Given the description of an element on the screen output the (x, y) to click on. 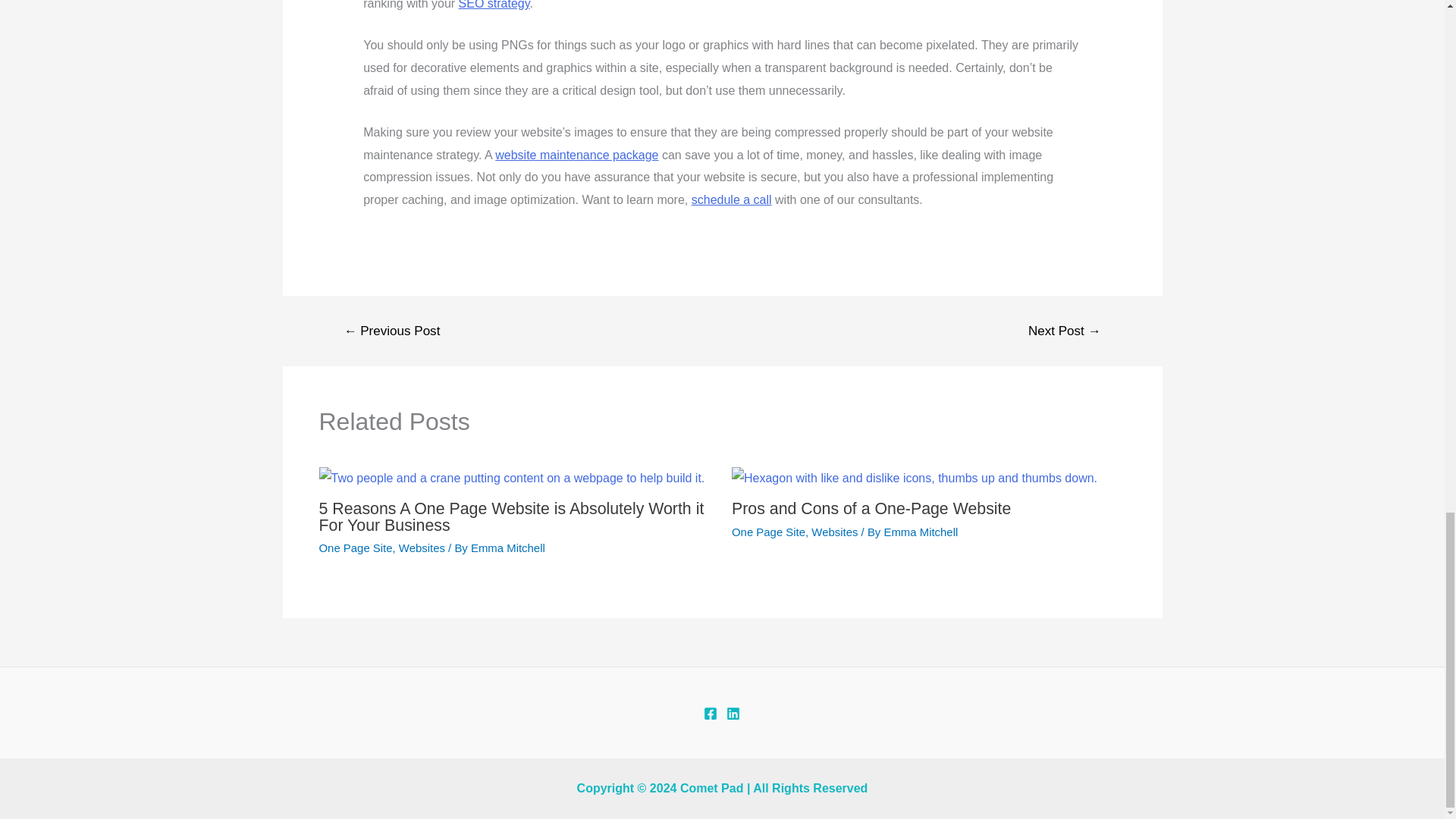
Emma Mitchell (507, 547)
View all posts by Emma Mitchell (920, 531)
Websites (833, 531)
SEO strategy (493, 4)
One Page Site (768, 531)
Website Maintenance Packages (576, 154)
Emma Mitchell (920, 531)
View all posts by Emma Mitchell (507, 547)
One Page Site (354, 547)
